Given the description of an element on the screen output the (x, y) to click on. 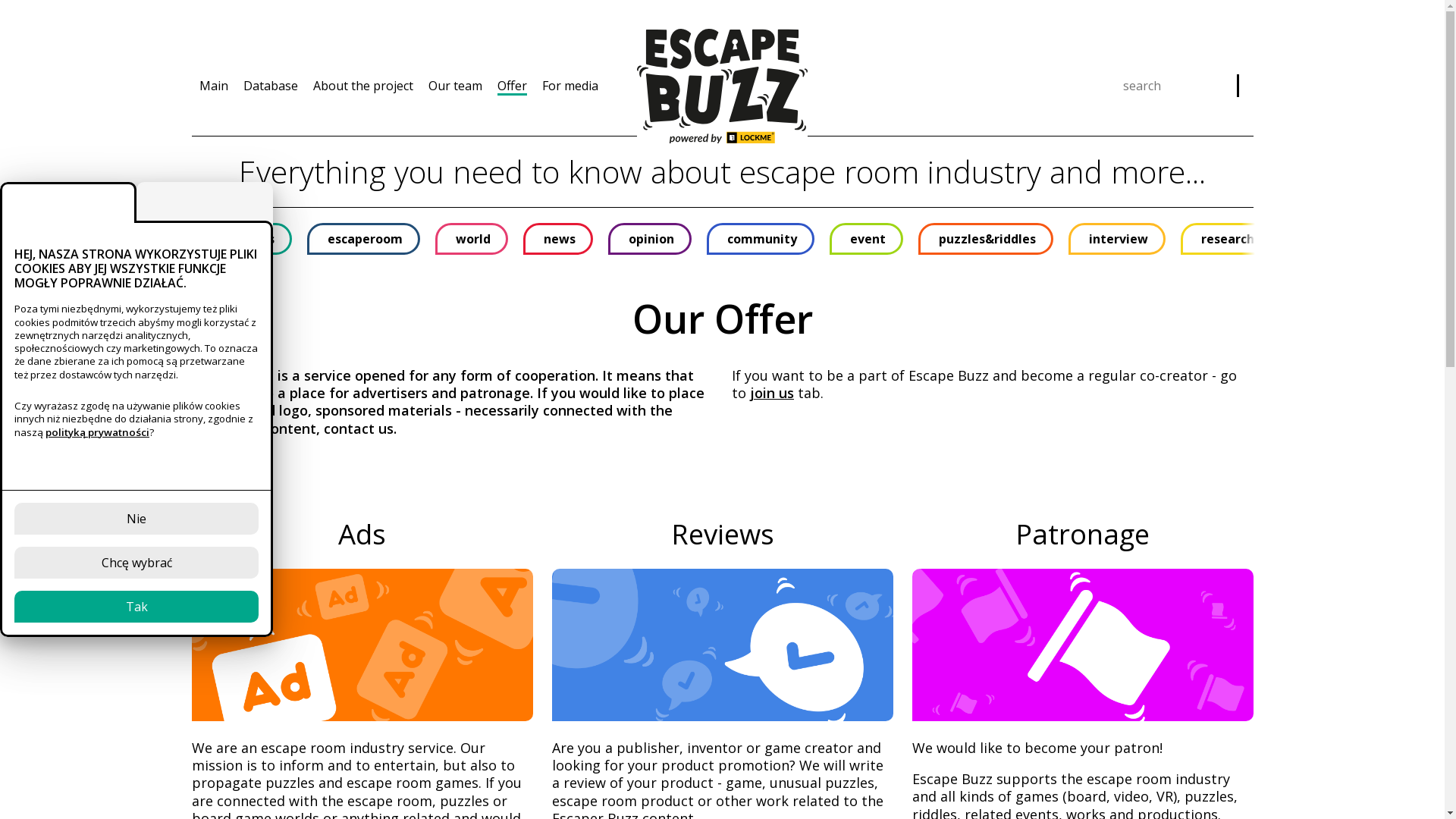
For media Element type: text (569, 85)
 escaperoom Element type: text (362, 238)
 world Element type: text (471, 238)
Main Element type: text (213, 85)
Our team Element type: text (454, 85)
Tak Element type: text (136, 606)
All articles Element type: text (241, 238)
 puzzles&riddles Element type: text (984, 238)
Nie Element type: text (136, 518)
 media Element type: text (1324, 238)
 news Element type: text (558, 238)
About the project Element type: text (362, 85)
Offer Element type: text (511, 85)
 interview Element type: text (1115, 238)
 event Element type: text (866, 238)
 research Element type: text (1224, 238)
join us Element type: text (771, 392)
 community Element type: text (760, 238)
 opinion Element type: text (649, 238)
Database Element type: text (269, 85)
